Given the description of an element on the screen output the (x, y) to click on. 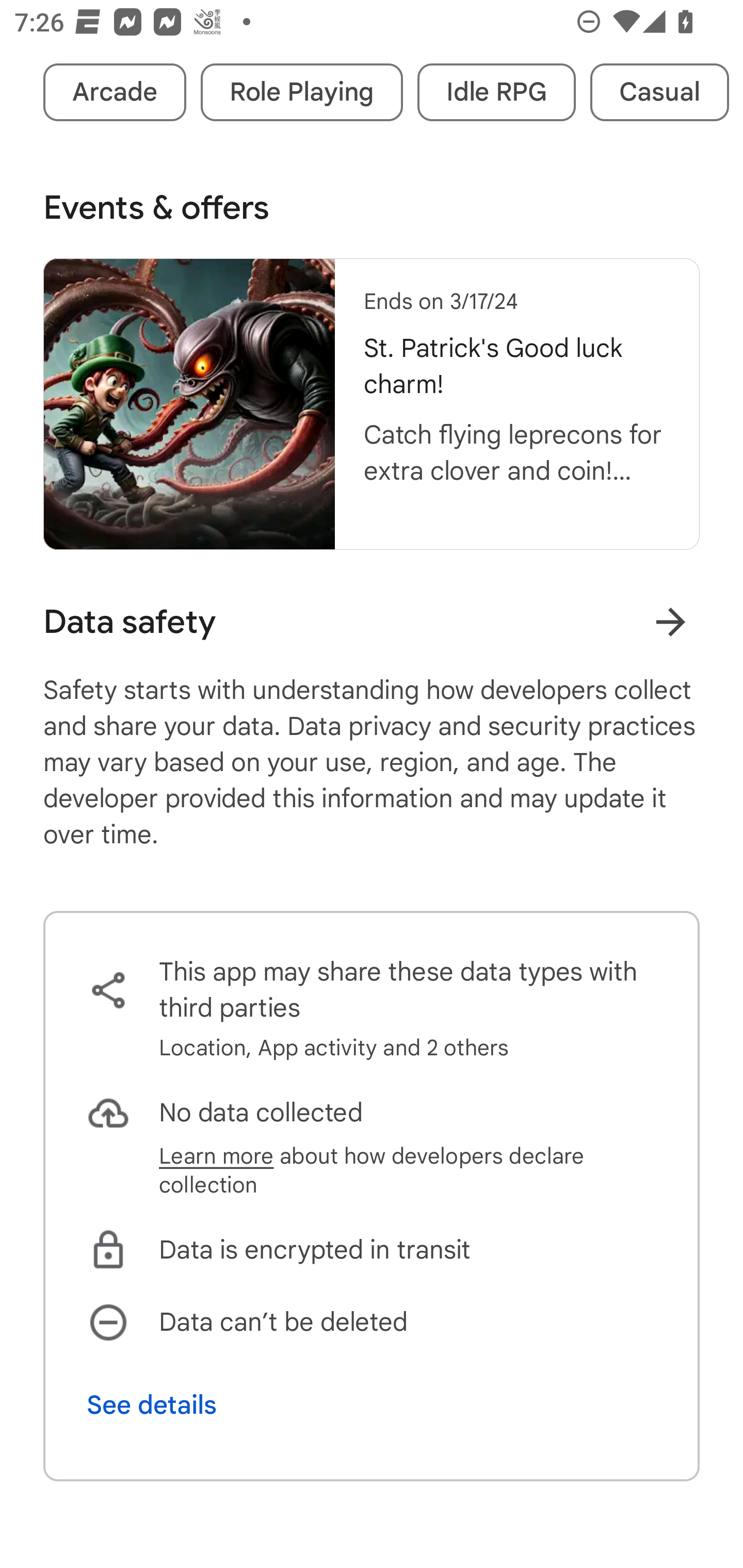
Arcade tag (114, 92)
Role Playing tag (301, 92)
Idle RPG tag (496, 92)
Casual tag (658, 92)
Data safety Learn more about data safety (371, 621)
Learn more about data safety (670, 621)
Learn more about how developers declare collection (407, 1170)
See details (151, 1405)
